Given the description of an element on the screen output the (x, y) to click on. 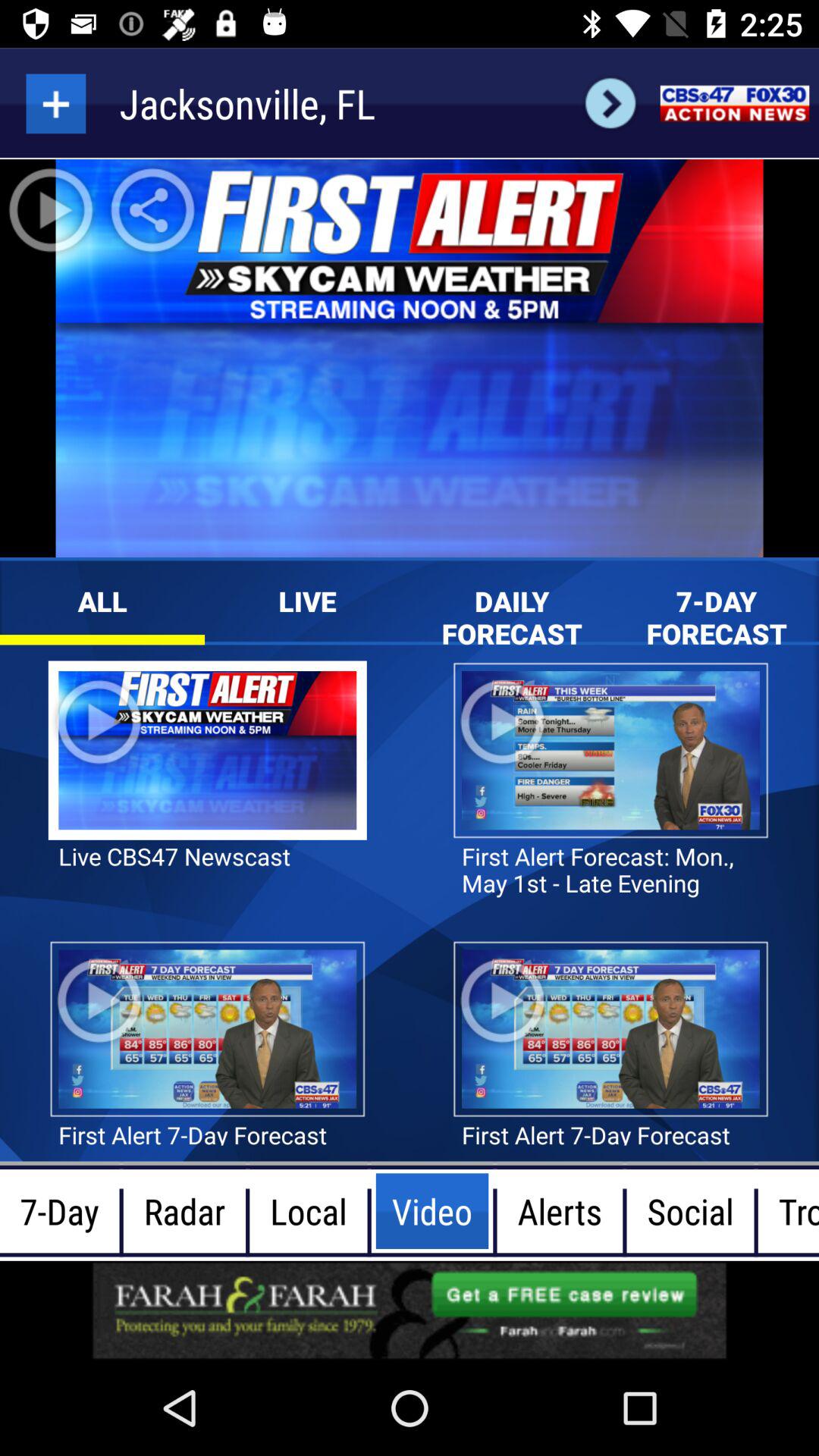
icon (55, 103)
